Given the description of an element on the screen output the (x, y) to click on. 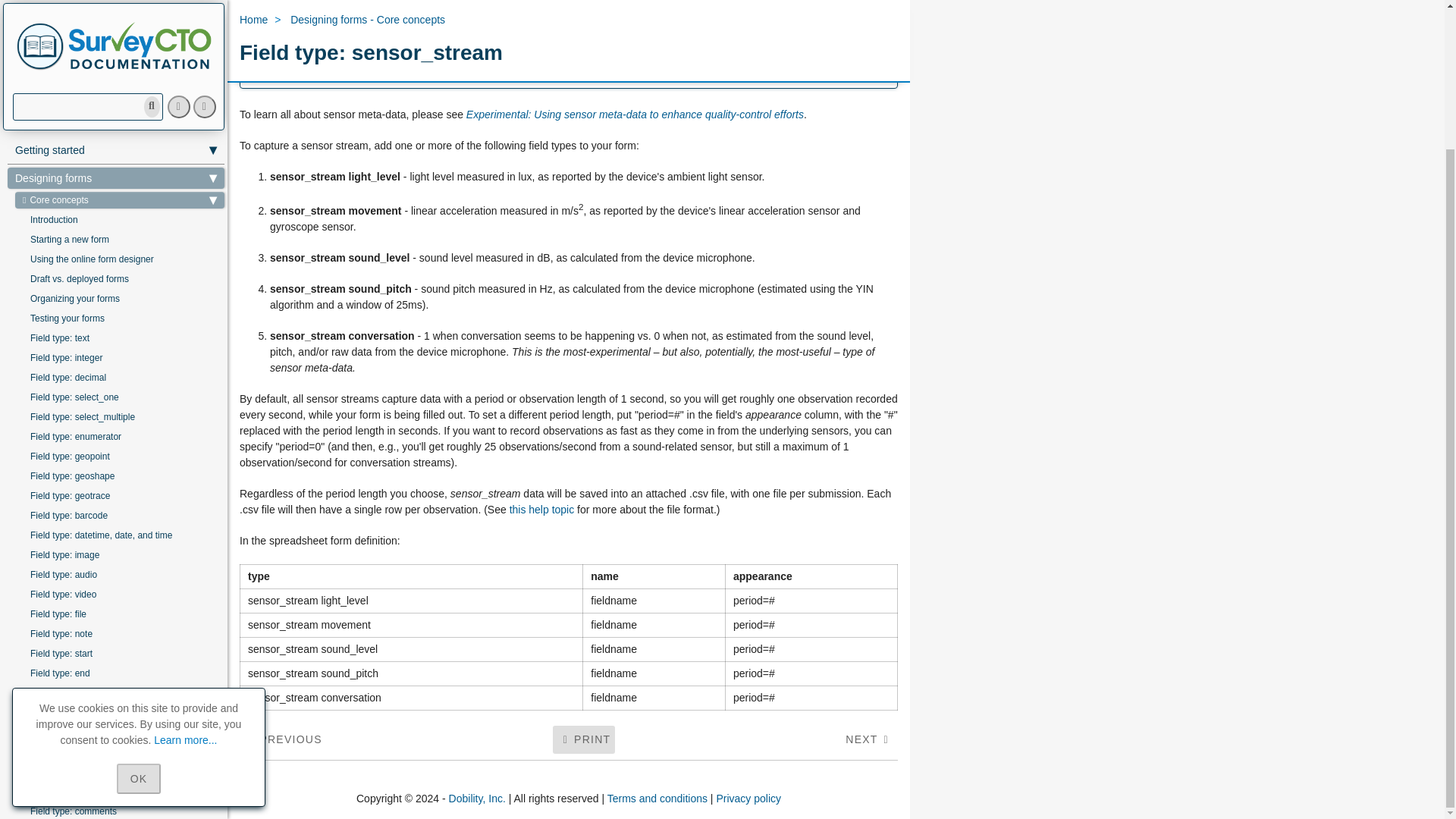
Field type: text (123, 166)
Terms and conditions (657, 798)
this help topic (542, 509)
Using the online form designer (123, 86)
More about platform limitations... (781, 73)
Introduction (123, 47)
Privacy policy (748, 798)
Core concepts (119, 27)
NEXT (870, 739)
Testing your forms (123, 146)
Starting a new form (123, 67)
Dobility, Inc. (476, 798)
Draft vs. deployed forms (123, 106)
PREVIOUS (282, 739)
